Given the description of an element on the screen output the (x, y) to click on. 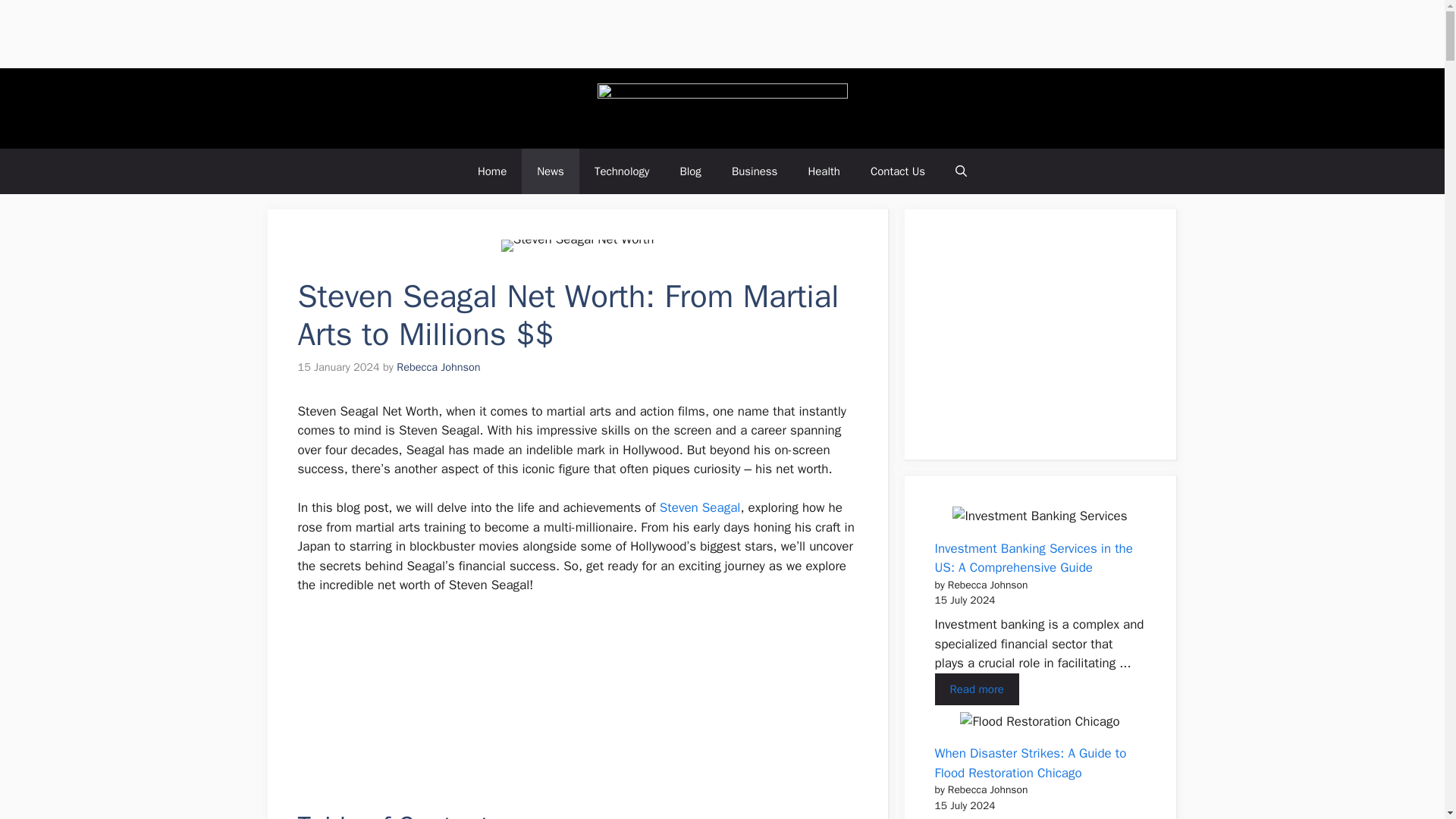
View all posts by Rebecca Johnson (438, 366)
Health (824, 171)
News (550, 171)
Investment Banking Services in the US: A Comprehensive Guide (975, 689)
Blog (689, 171)
Technology (622, 171)
Steven Seagal (700, 507)
Home (492, 171)
Contact Us (898, 171)
Rebecca Johnson (438, 366)
Business (754, 171)
